Given the description of an element on the screen output the (x, y) to click on. 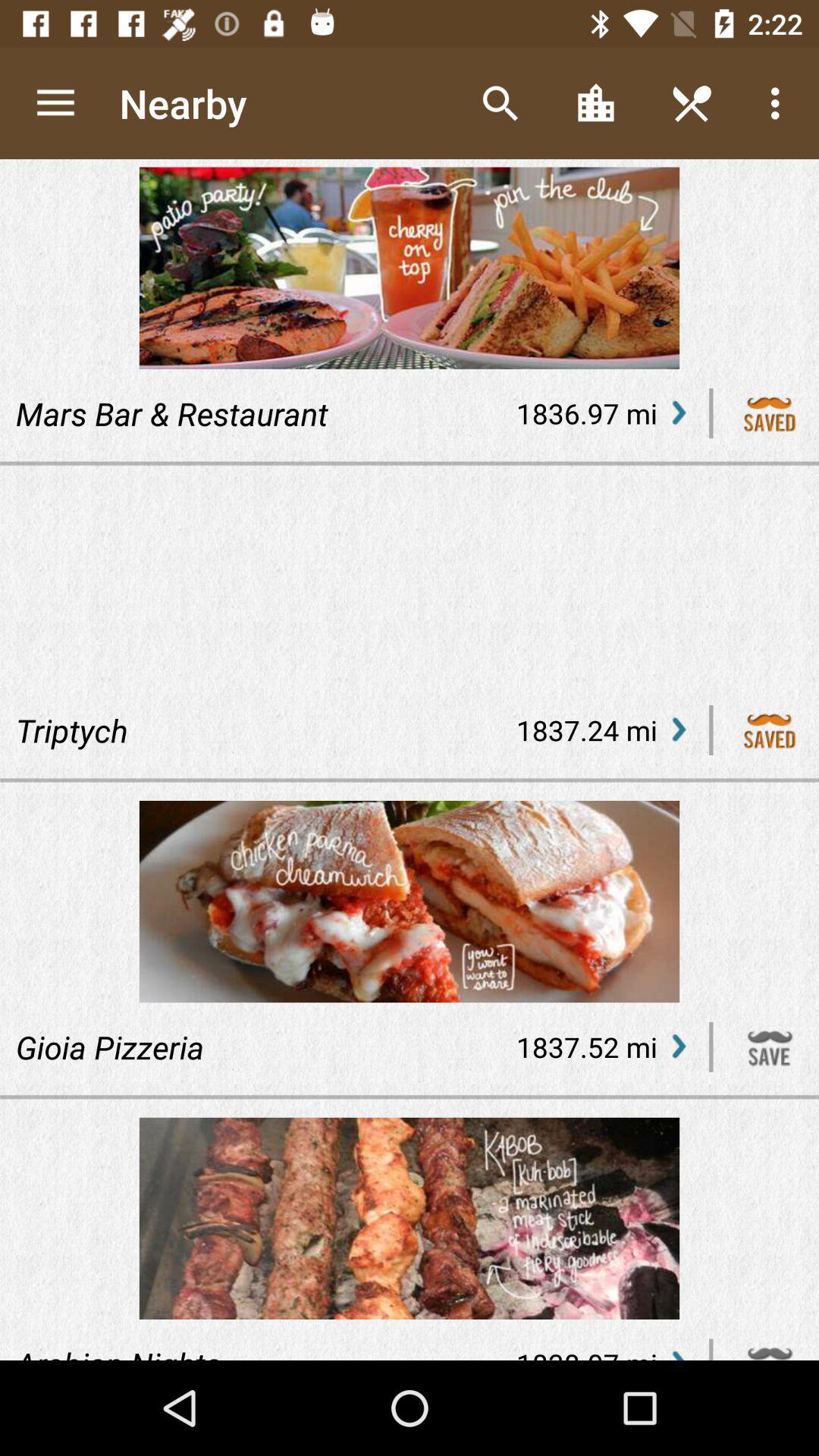
option saved (770, 729)
